Given the description of an element on the screen output the (x, y) to click on. 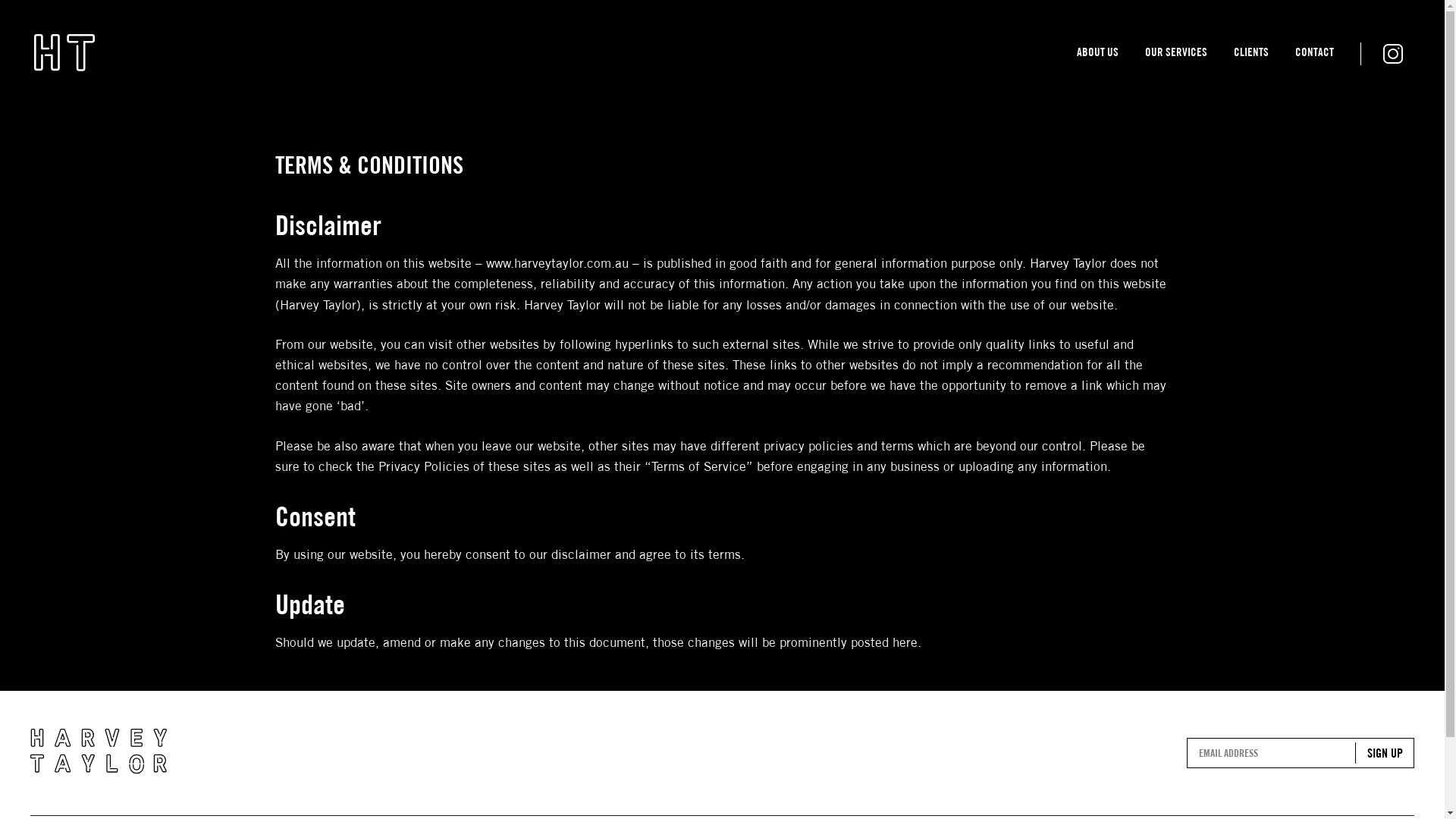
CLIENTS Element type: text (1250, 55)
OUR SERVICES Element type: text (1176, 55)
ABOUT US Element type: text (1097, 55)
Sign Up Element type: text (1384, 752)
CONTACT Element type: text (1314, 55)
